Given the description of an element on the screen output the (x, y) to click on. 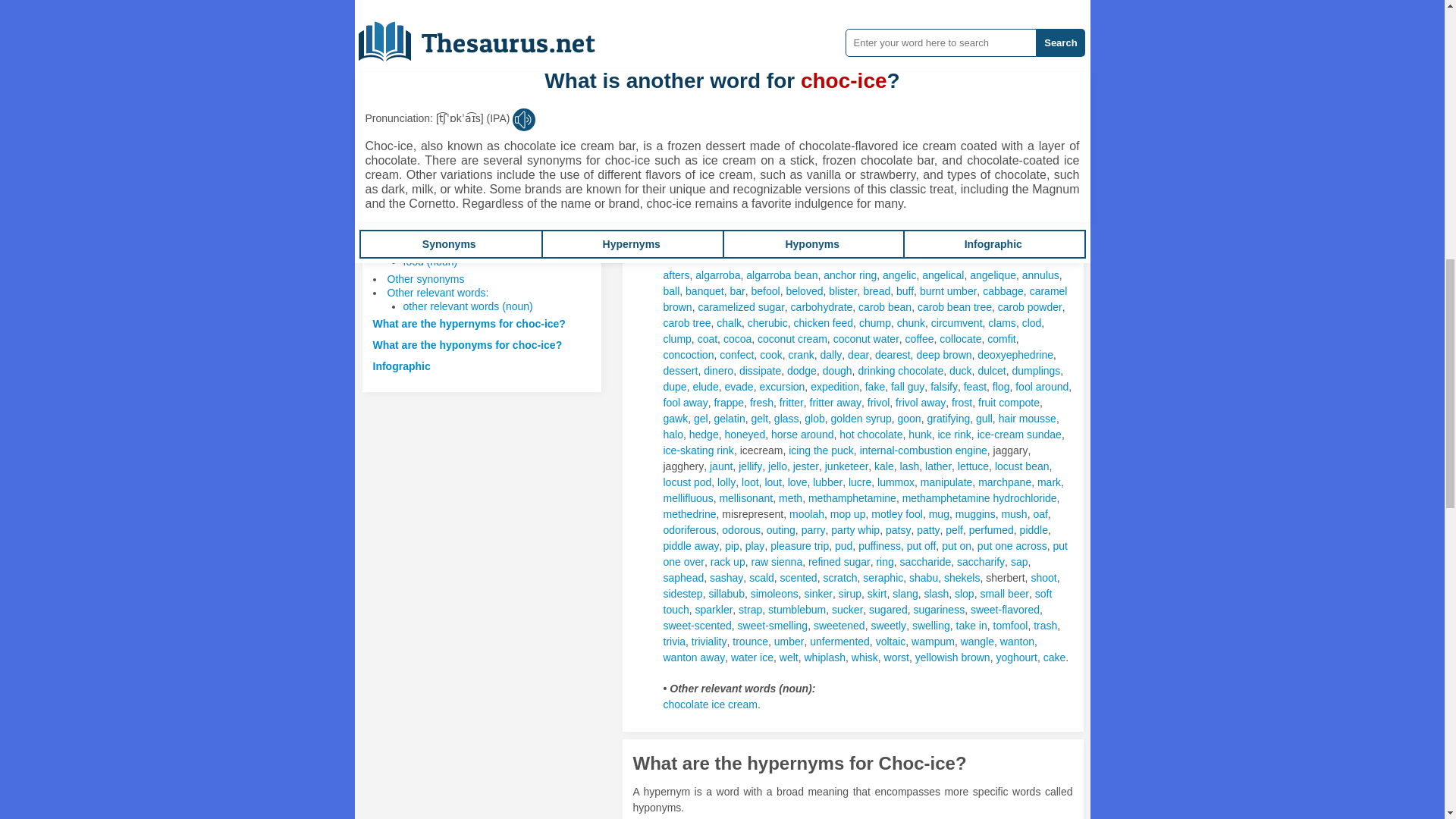
What are the hypernyms for choc-ice? (469, 323)
granulated sugar (734, 82)
gur (787, 82)
Infographic (401, 366)
Synonyms for Choc-ice (867, 67)
Synonyms for Choc-ice (749, 67)
Synonyms for Choc-ice (799, 67)
Other relevant words: (437, 292)
dumpling (799, 67)
honey (815, 82)
